Given the description of an element on the screen output the (x, y) to click on. 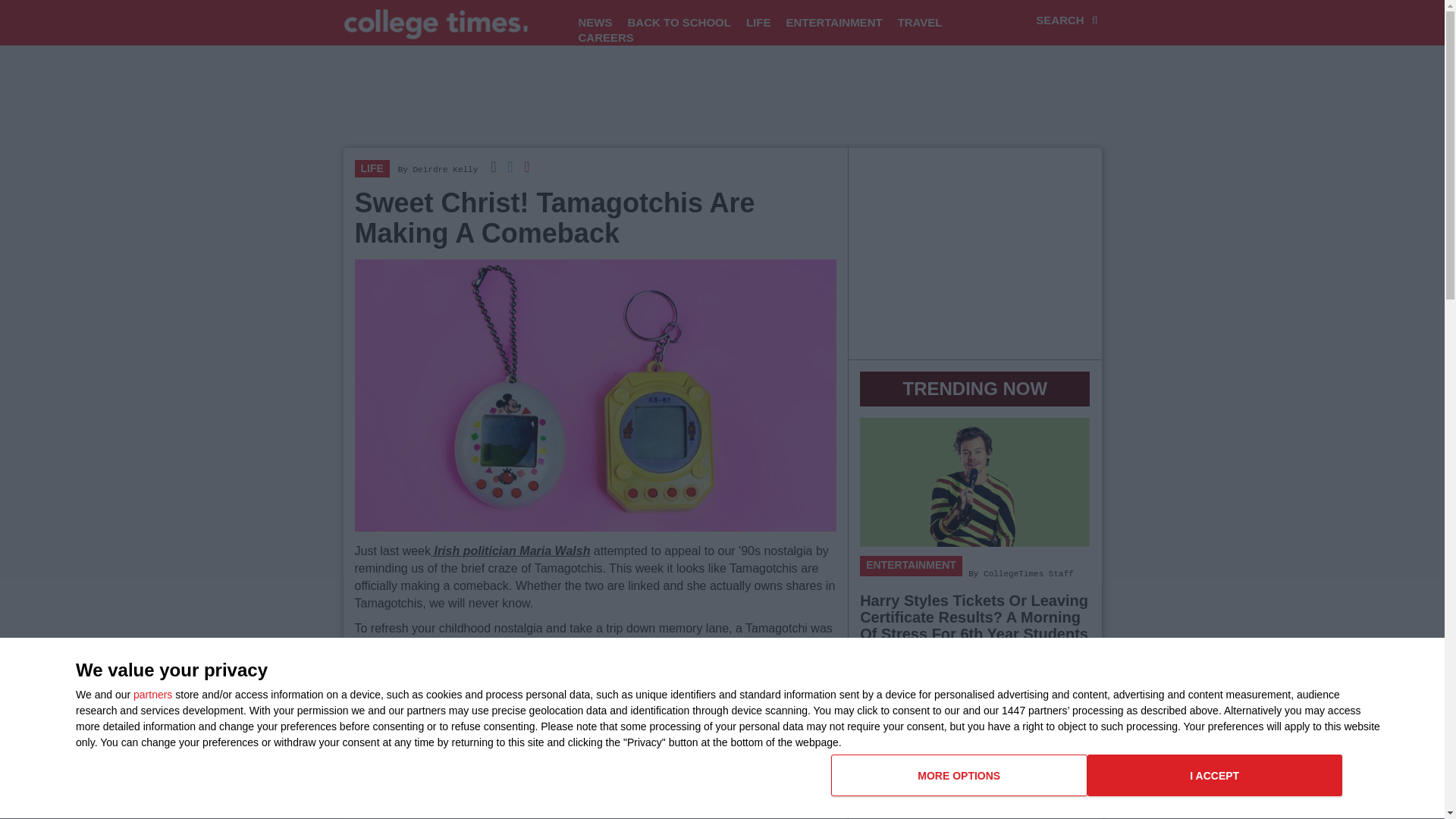
MORE OPTIONS (959, 775)
LIFE (372, 168)
ENTERTAINMENT (833, 22)
partners (152, 694)
NEWS (1086, 781)
LIFE (595, 22)
Irish politician Maria Walsh (758, 22)
TRAVEL (509, 550)
Deirdre Kelly (919, 22)
I ACCEPT (444, 169)
CAREERS (1214, 775)
BACK TO SCHOOL (605, 37)
